Given the description of an element on the screen output the (x, y) to click on. 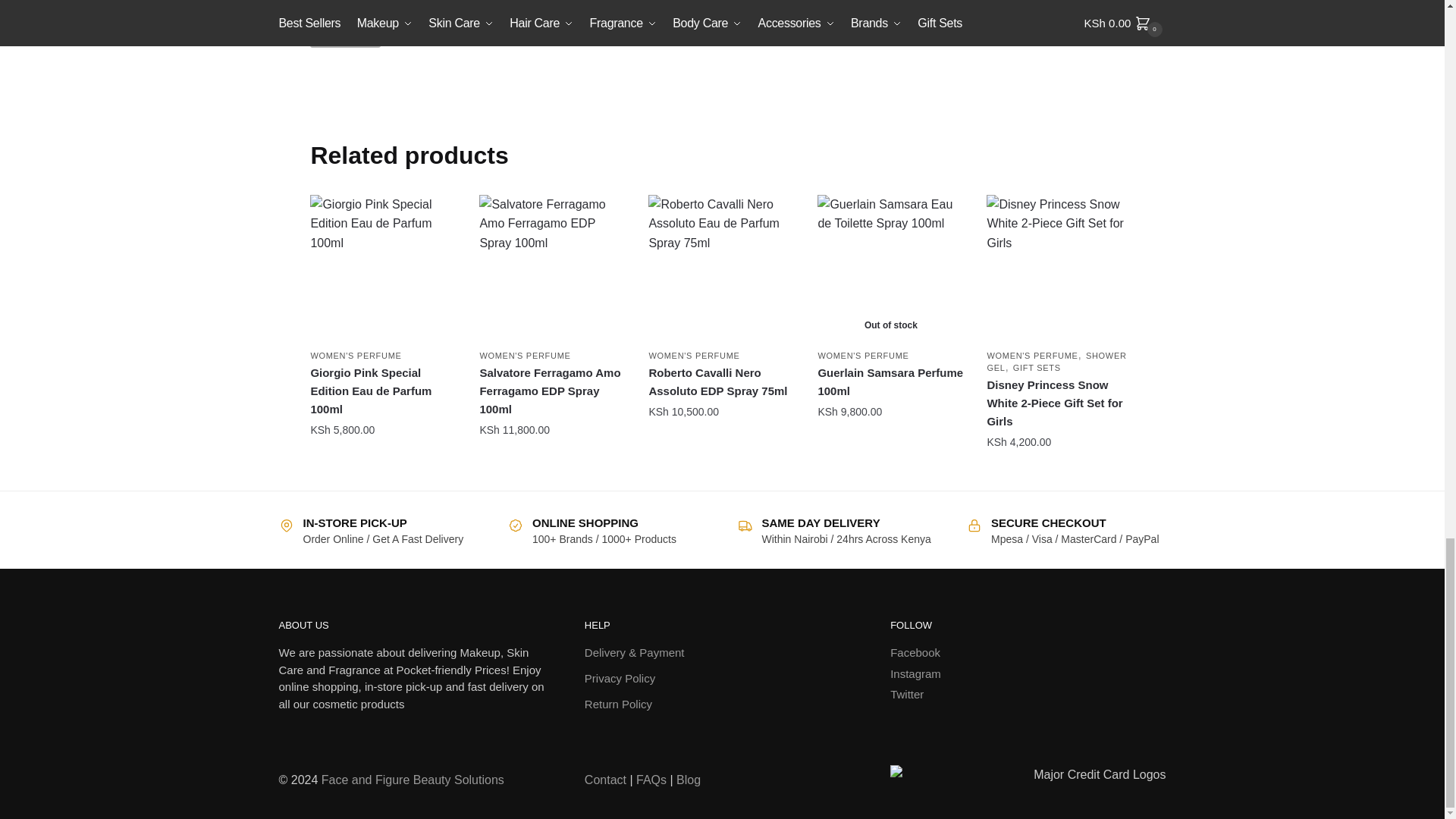
Instagram (914, 674)
Twitter (906, 694)
Submit (345, 33)
Facebook (914, 652)
